Given the description of an element on the screen output the (x, y) to click on. 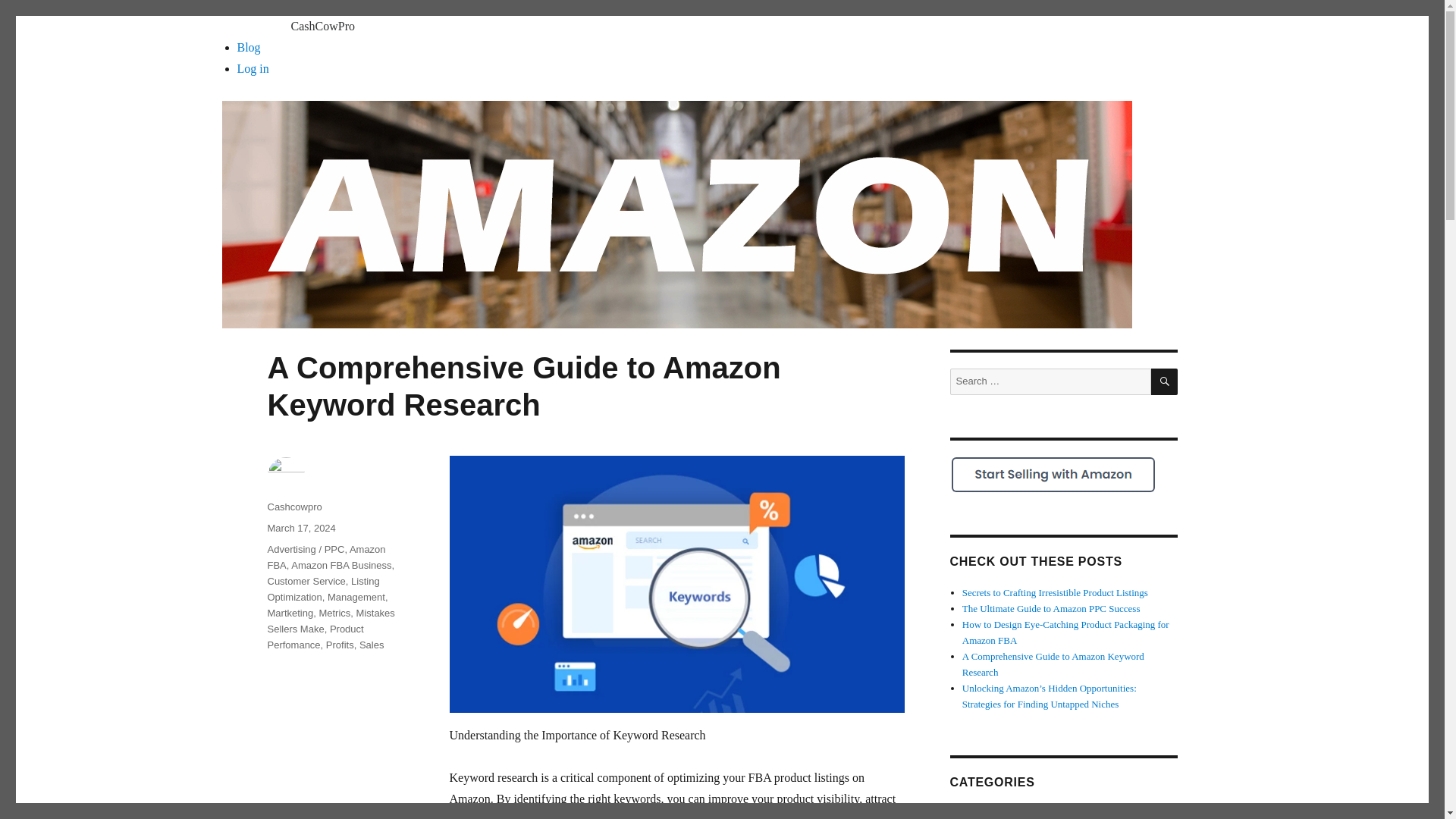
The Ultimate Guide to Amazon PPC Success (1051, 608)
Listing Optimization (322, 588)
Mistakes Sellers Make (330, 620)
Amazon FBA Business (341, 564)
Metrics (334, 613)
Martketing (289, 613)
Profits (339, 644)
Cashcowpro (293, 506)
Product Perfomance (314, 636)
March 17, 2024 (300, 527)
